Given the description of an element on the screen output the (x, y) to click on. 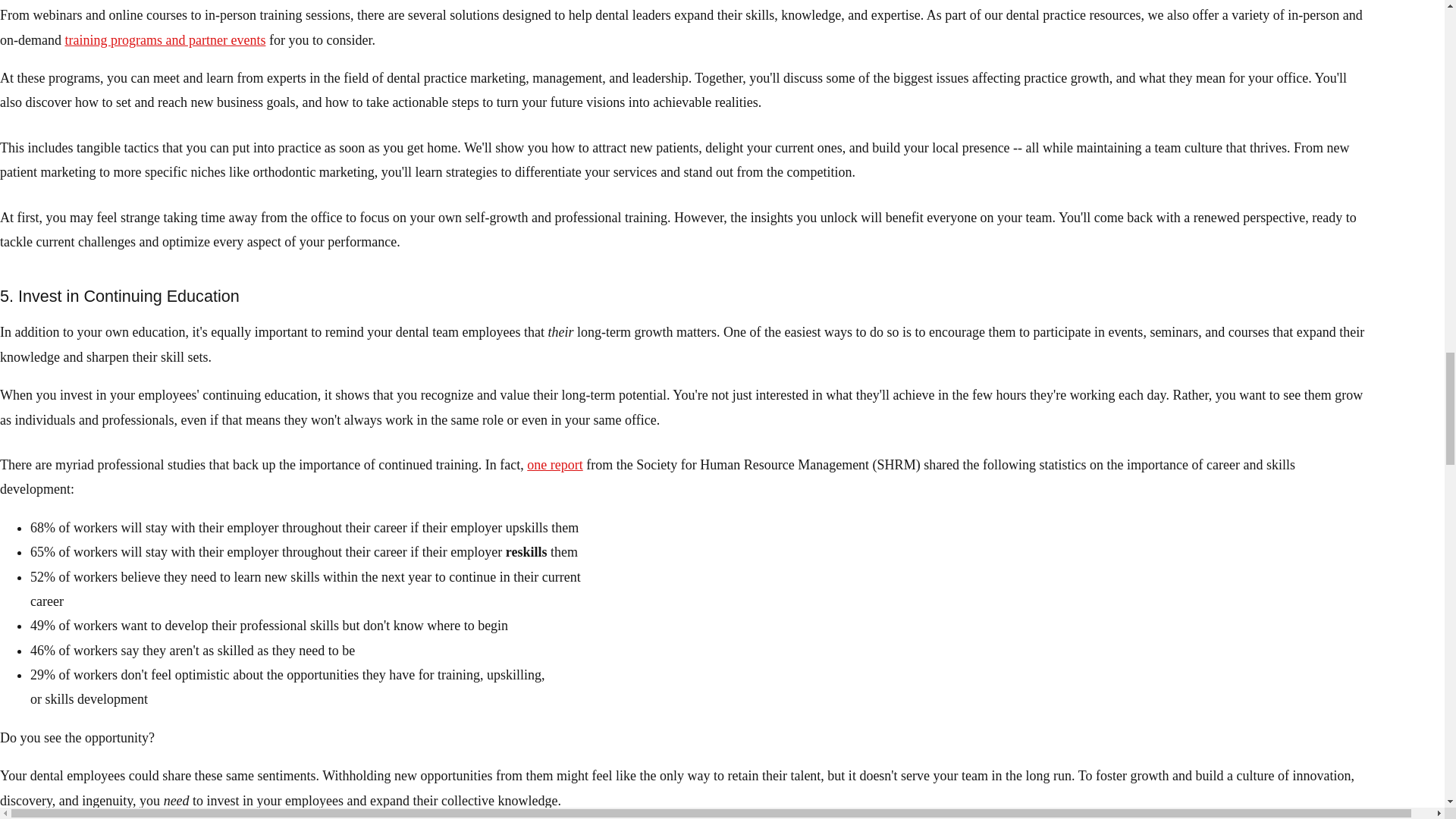
training programs and partner events (164, 39)
one report (554, 464)
